Given the description of an element on the screen output the (x, y) to click on. 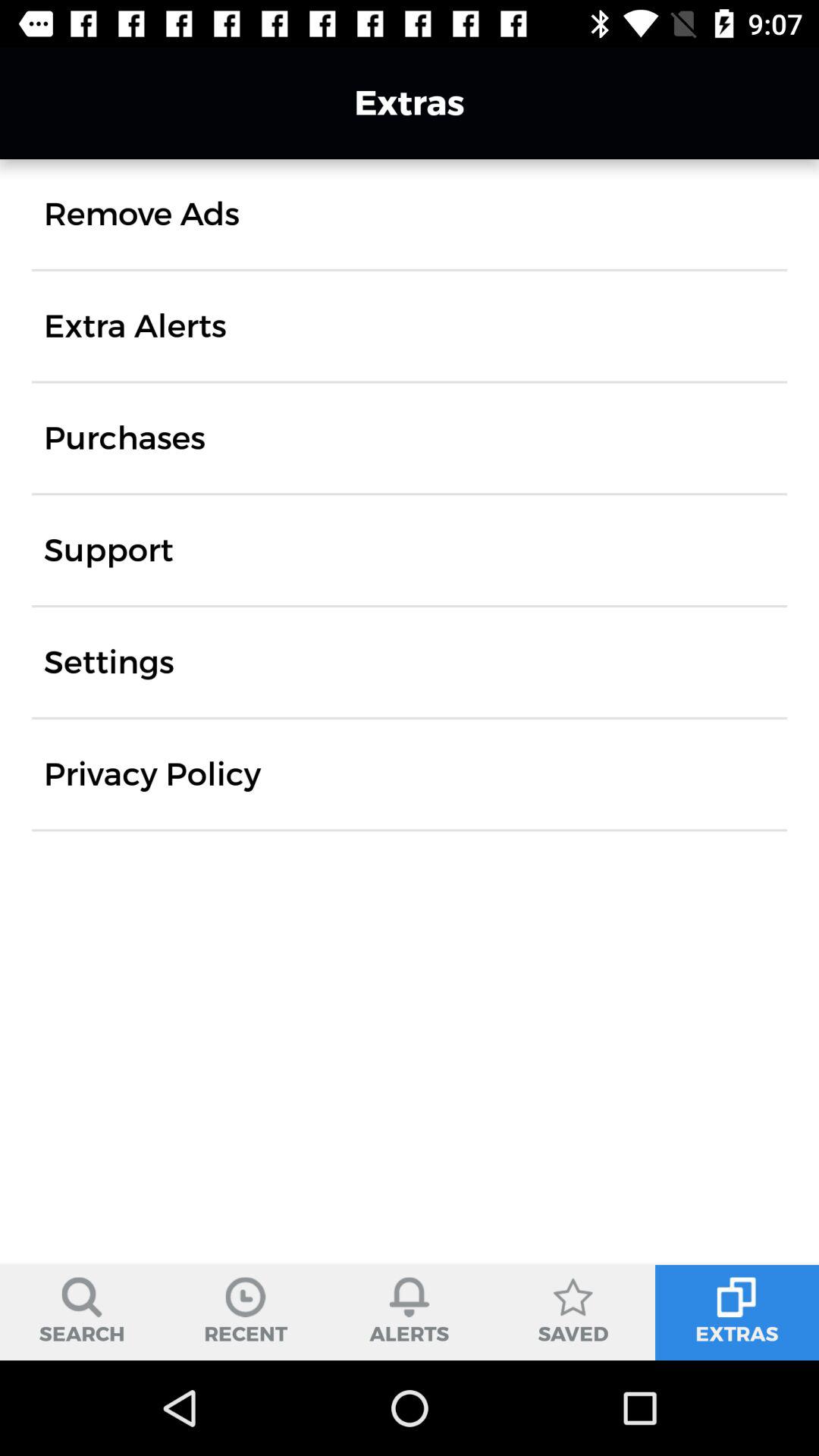
tap the item above privacy policy item (108, 662)
